Given the description of an element on the screen output the (x, y) to click on. 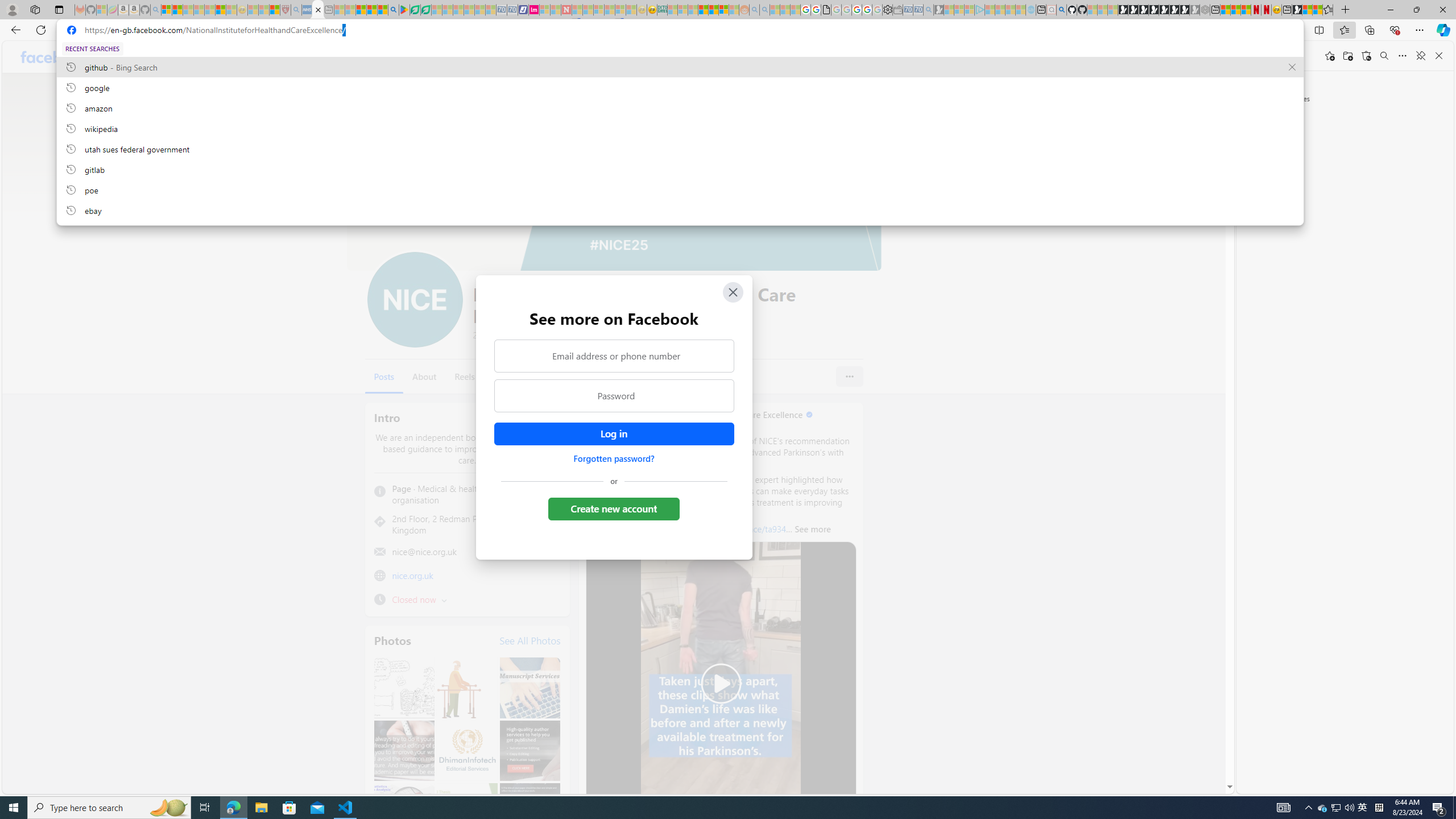
Forgotten password? (613, 458)
Wallet - Sleeping (897, 9)
Robert H. Shmerling, MD - Harvard Health - Sleeping (285, 9)
Create new account (613, 508)
MSN (1297, 9)
Jobs - lastminute.com Investor Portal (534, 9)
Unpin favorites (1420, 55)
ebay, recent searches from history (679, 209)
Latest Politics News & Archive | Newsweek.com - Sleeping (566, 9)
